Given the description of an element on the screen output the (x, y) to click on. 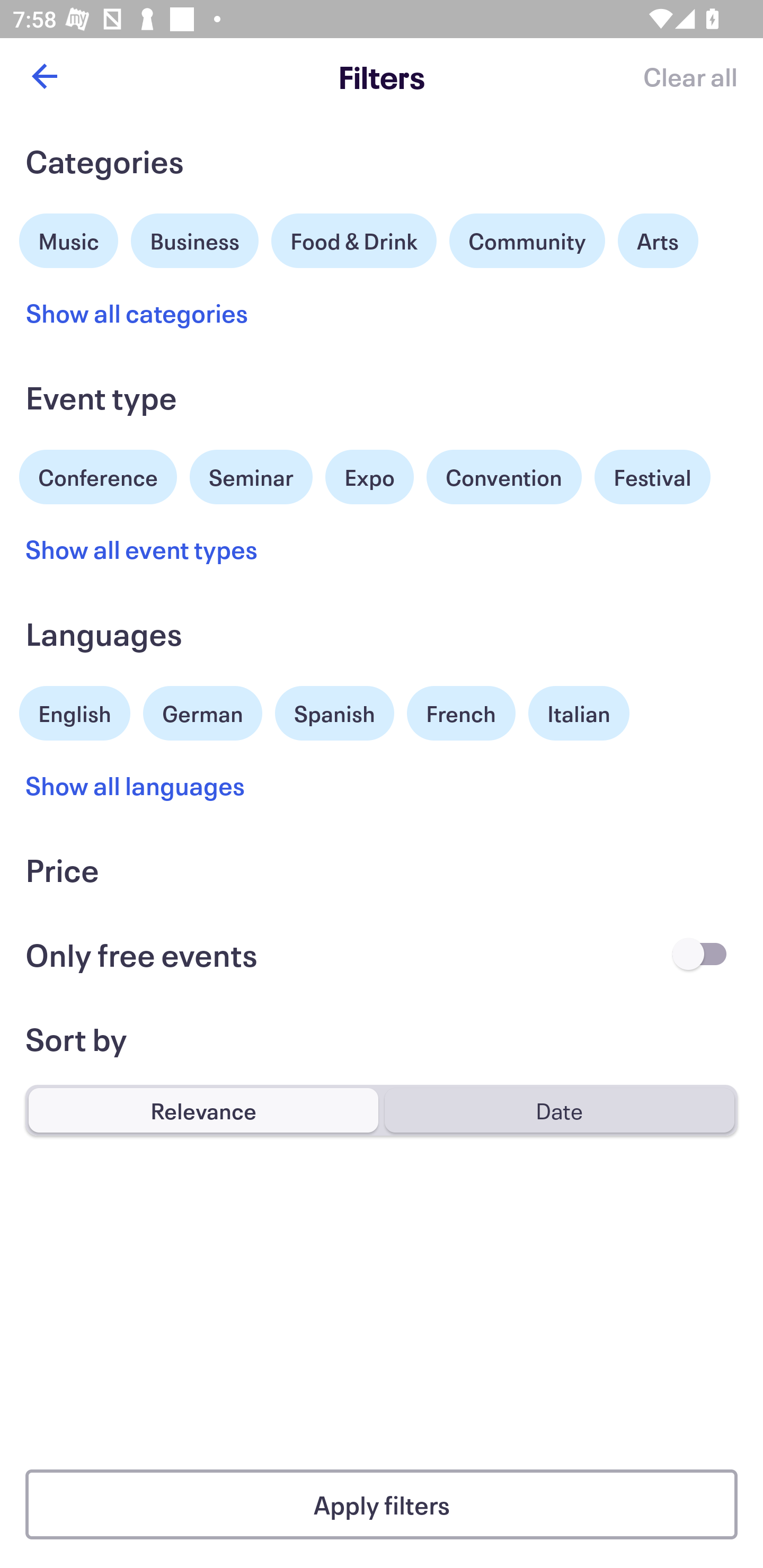
Back button (44, 75)
Clear all (690, 75)
Music (68, 238)
Business (194, 238)
Food & Drink (353, 240)
Community (527, 240)
Arts (658, 240)
Show all categories (136, 312)
Conference (98, 475)
Seminar (250, 477)
Expo (369, 477)
Convention (503, 477)
Festival (652, 477)
Show all event types (141, 548)
English (74, 710)
German (202, 710)
Spanish (334, 713)
French (460, 713)
Italian (578, 713)
Show all languages (135, 784)
Relevance (203, 1109)
Date (559, 1109)
Apply filters (381, 1504)
